Given the description of an element on the screen output the (x, y) to click on. 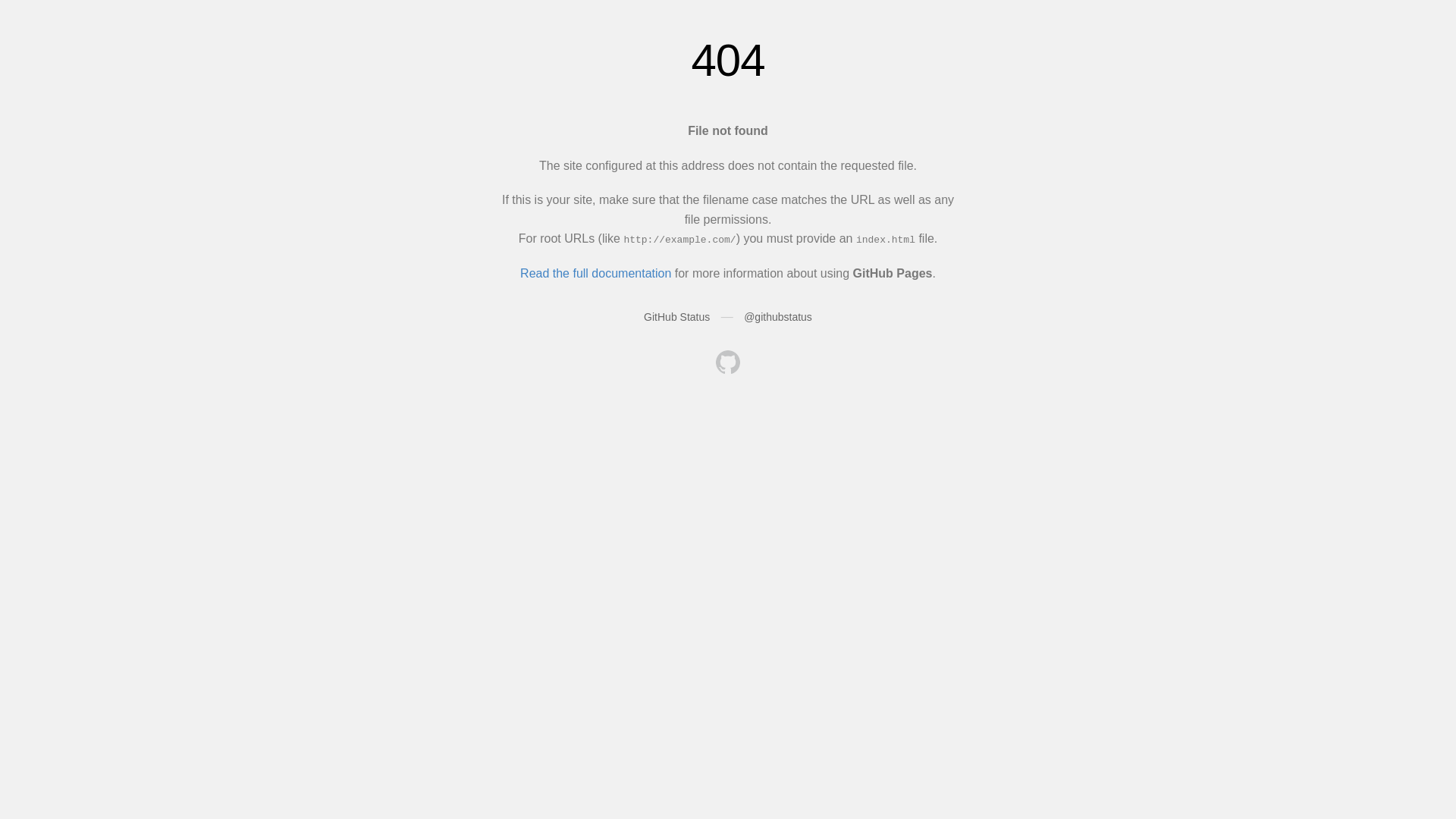
Read the full documentation Element type: text (595, 272)
@githubstatus Element type: text (777, 316)
GitHub Status Element type: text (676, 316)
